Given the description of an element on the screen output the (x, y) to click on. 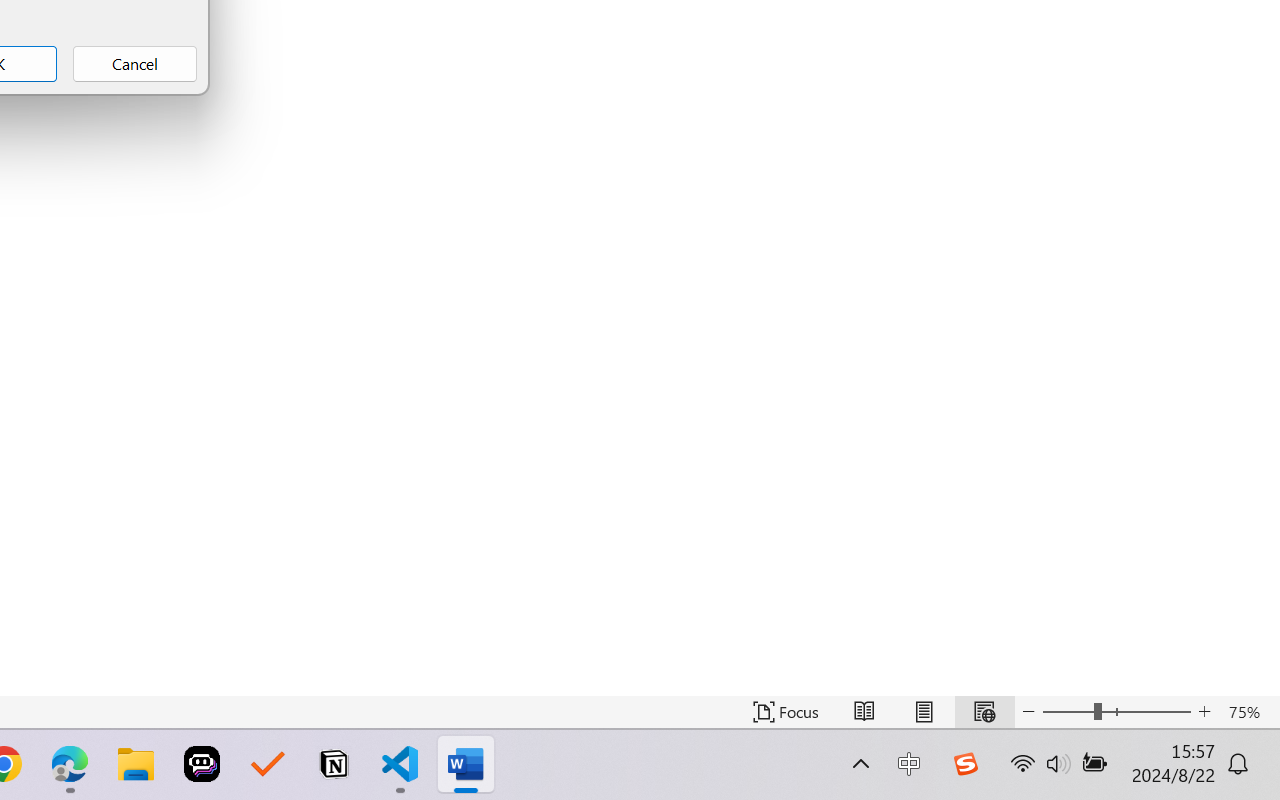
Focus  (786, 712)
Web Layout (984, 712)
Zoom In (1204, 712)
Poe (201, 764)
Print Layout (924, 712)
Zoom 75% (1249, 712)
Zoom Out (1067, 712)
